Given the description of an element on the screen output the (x, y) to click on. 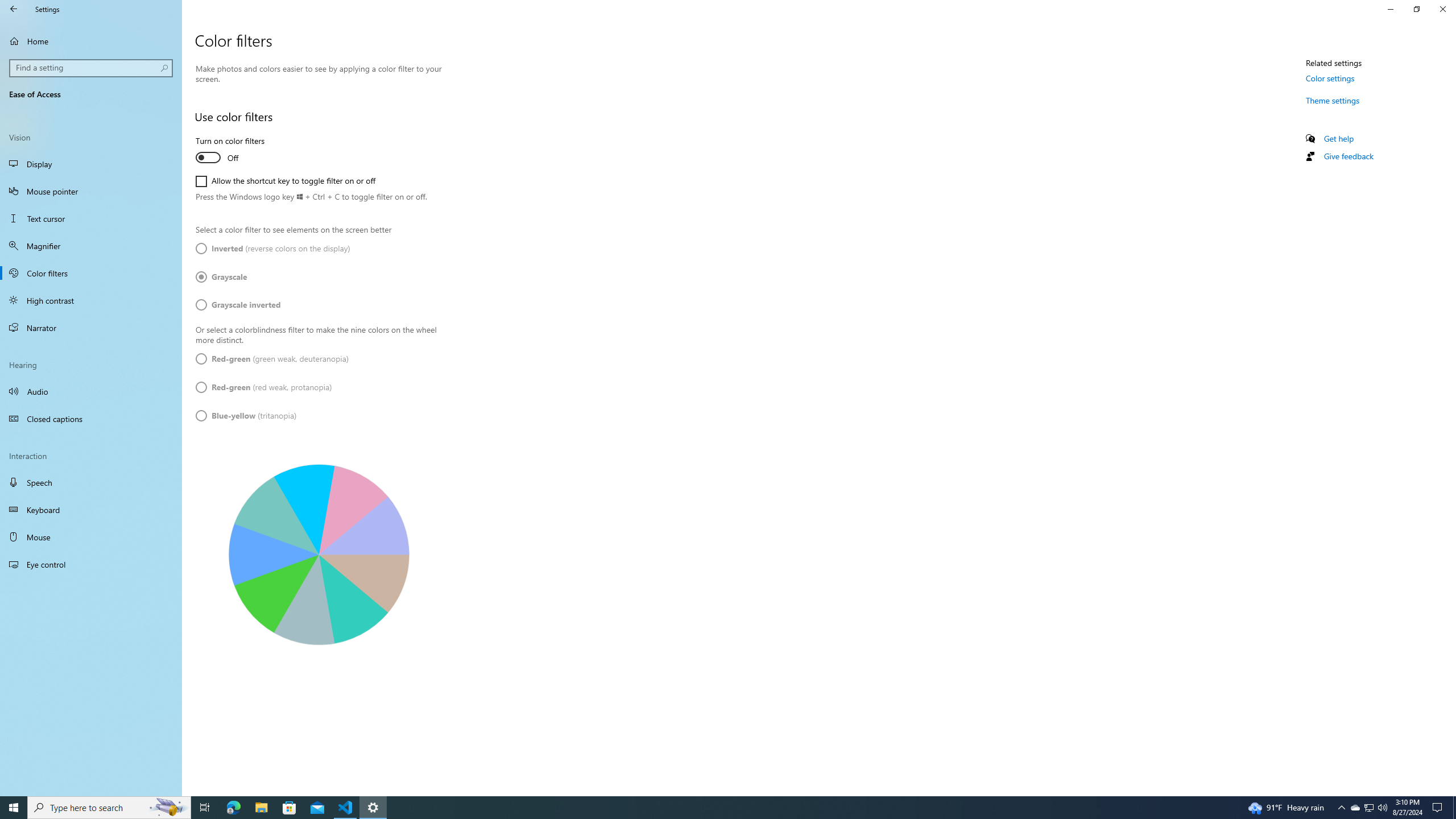
Back (13, 9)
Closed captions (1355, 807)
Red-green (red weak, protanopia) (91, 418)
Narrator (263, 387)
User Promoted Notification Area (91, 327)
Task View (1368, 807)
Search box, Find a setting (204, 807)
Notification Chevron (91, 67)
Search highlights icon opens search home window (1341, 807)
Blue-yellow (tritanopia) (167, 807)
Settings - 1 running window (246, 416)
Grayscale (373, 807)
Start (229, 276)
